Given the description of an element on the screen output the (x, y) to click on. 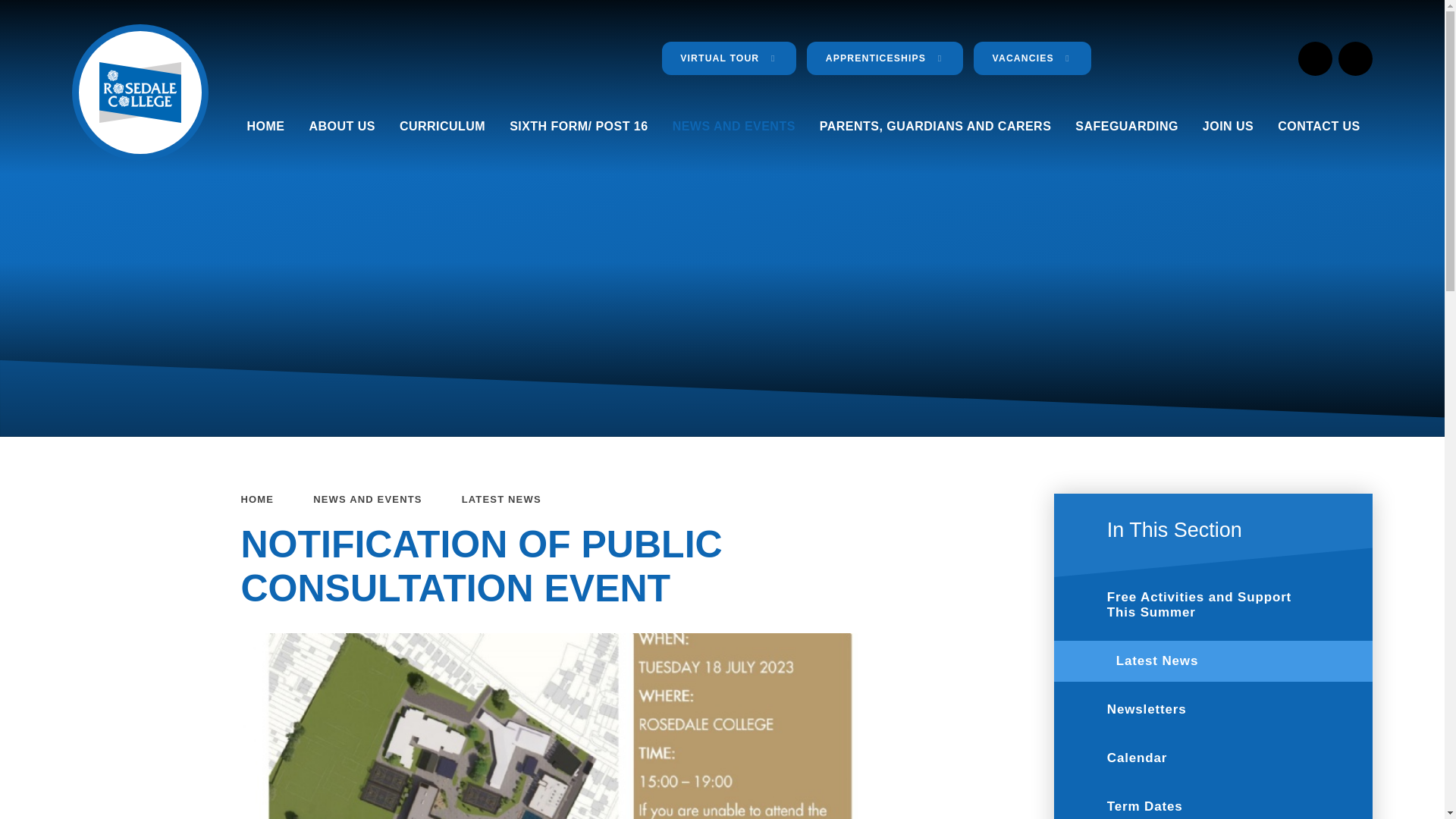
VACANCIES (1032, 58)
CURRICULUM (442, 126)
HOME (265, 126)
ABOUT US (342, 126)
VIRTUAL TOUR (729, 58)
APPRENTICESHIPS (884, 58)
